Given the description of an element on the screen output the (x, y) to click on. 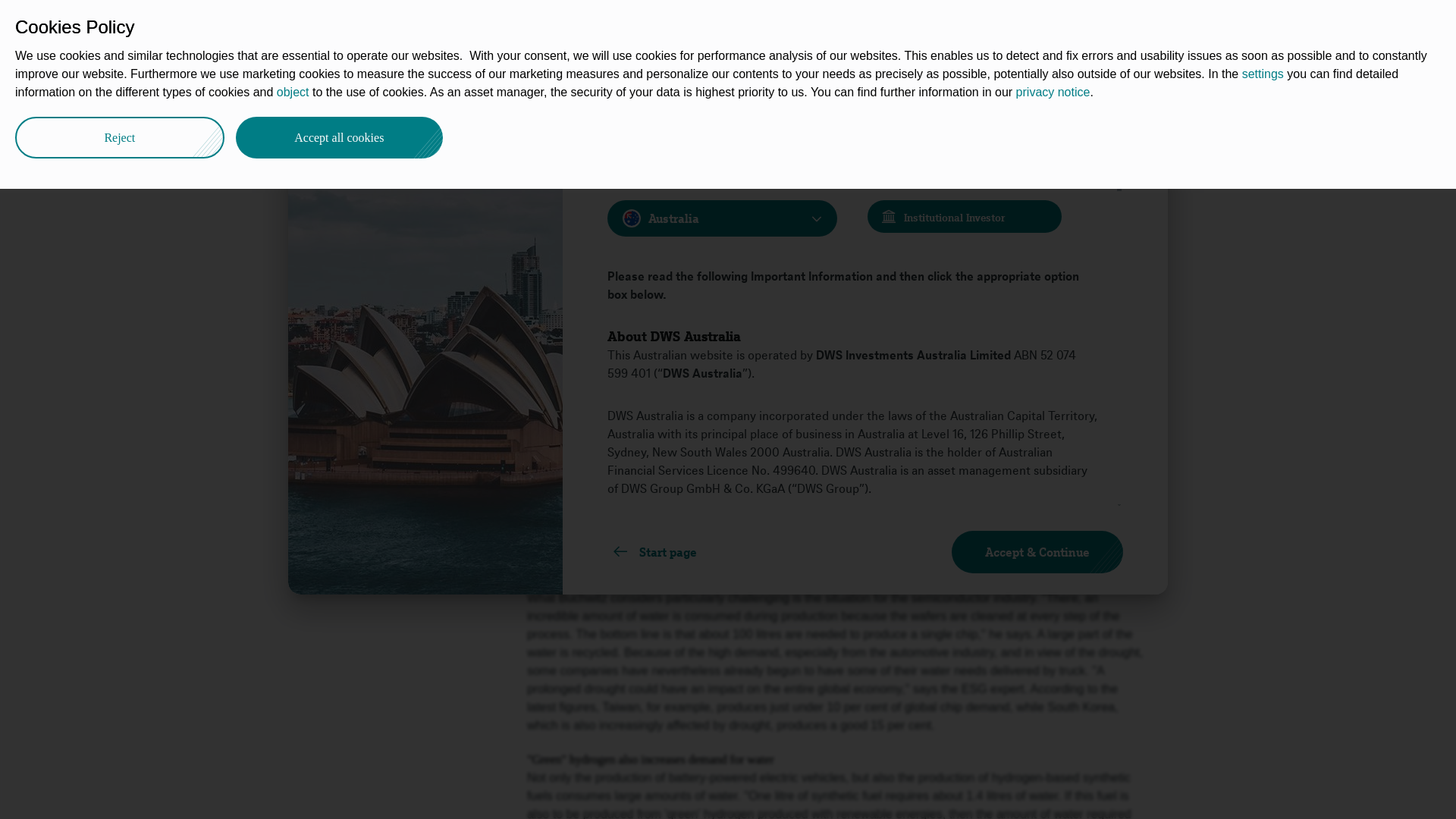
Media (408, 92)
Home (307, 92)
Share (315, 181)
Capabilities (498, 24)
Media Releases (483, 92)
DWS - Investors for a new now (307, 92)
Media (408, 92)
Profile (358, 92)
Solutions (580, 24)
Profile (358, 92)
Media Releases (483, 92)
Share (1140, 90)
